Given the description of an element on the screen output the (x, y) to click on. 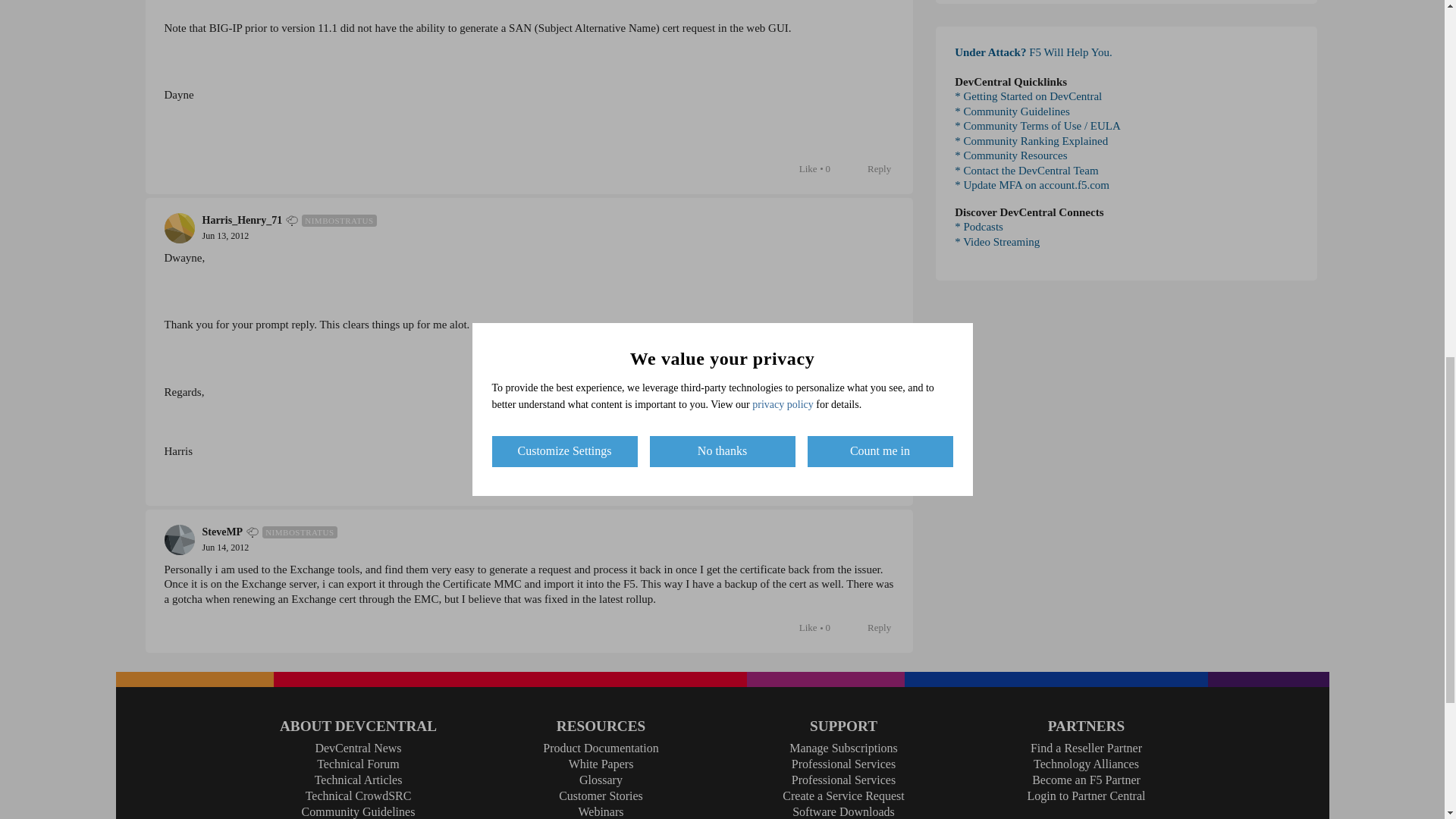
June 14, 2012 at 3:09 AM (225, 547)
June 13, 2012 at 11:11 PM (225, 235)
